Given the description of an element on the screen output the (x, y) to click on. 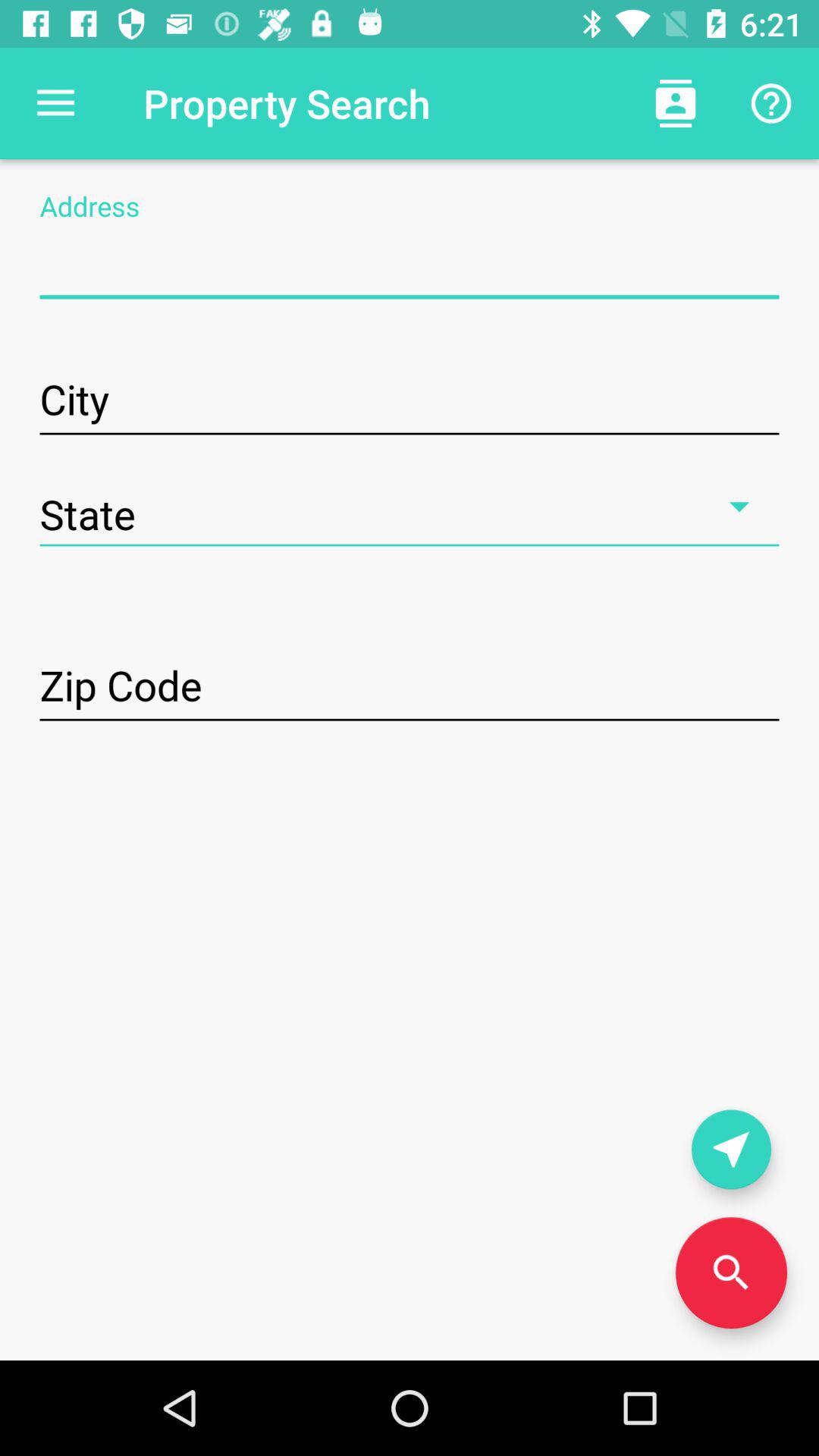
turn on icon next to property search icon (55, 103)
